Given the description of an element on the screen output the (x, y) to click on. 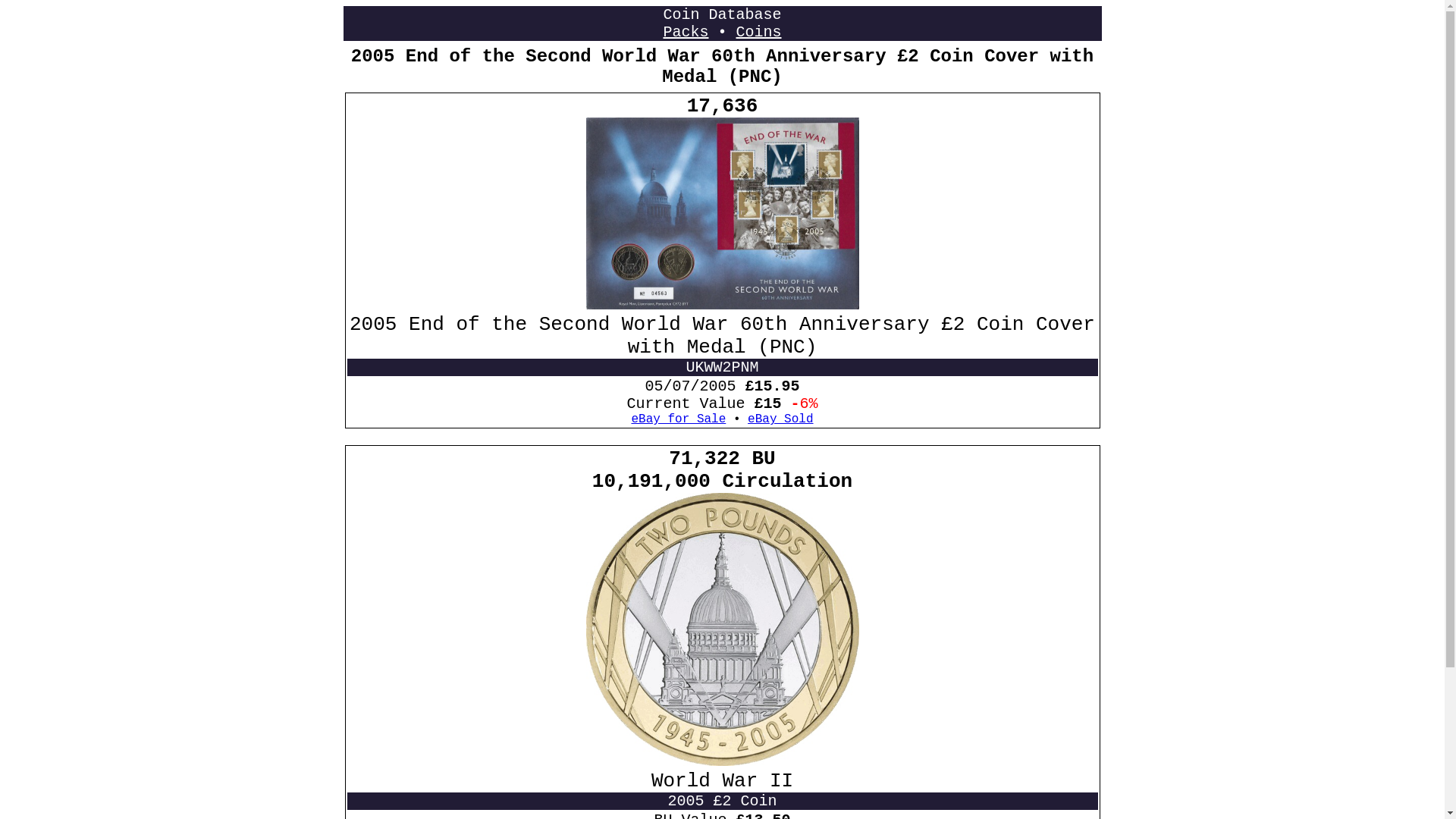
Coins (757, 31)
eBay Sold (780, 418)
Packs (684, 31)
eBay for Sale (677, 418)
